Given the description of an element on the screen output the (x, y) to click on. 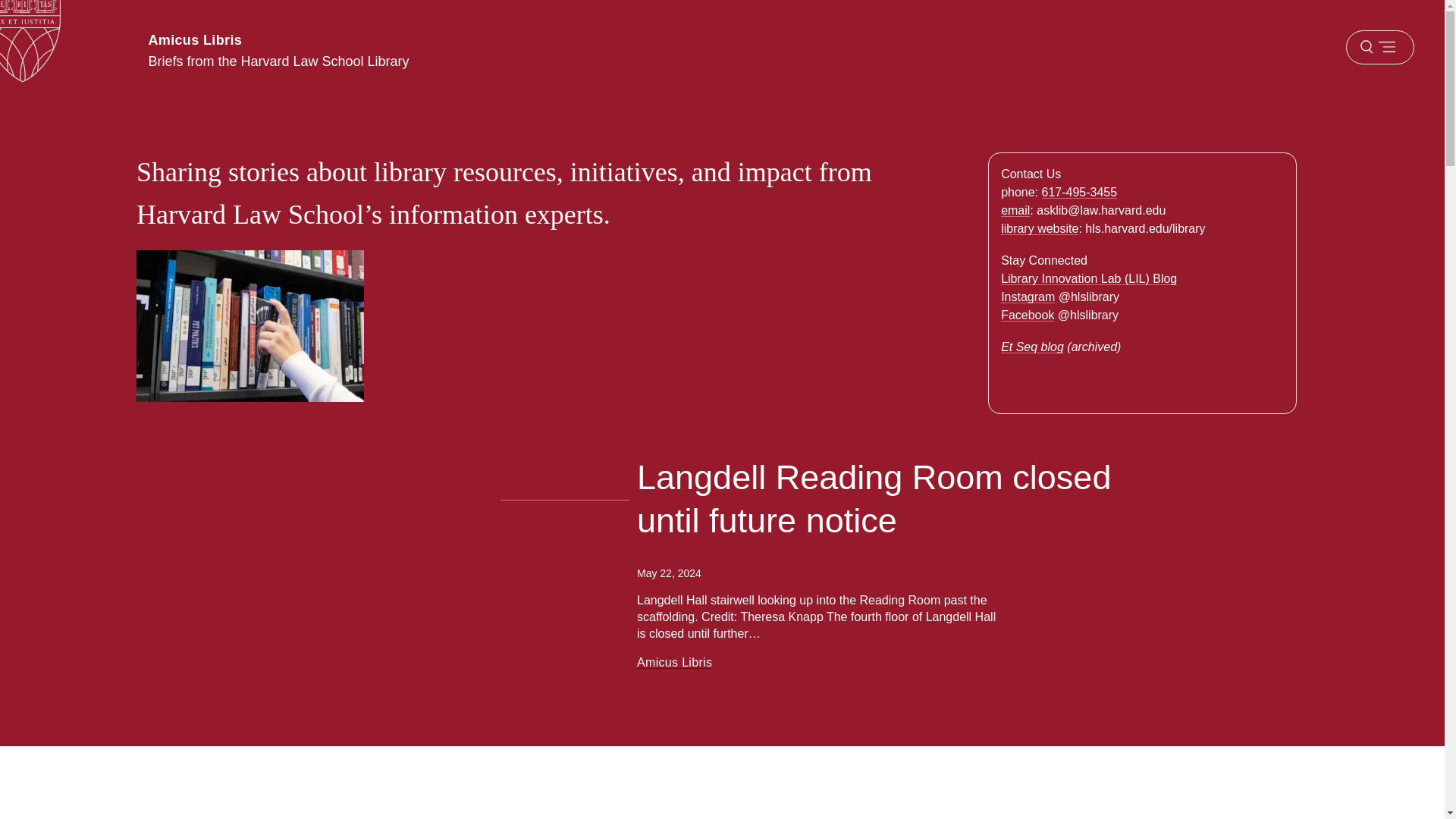
Open menu (1379, 47)
